Given the description of an element on the screen output the (x, y) to click on. 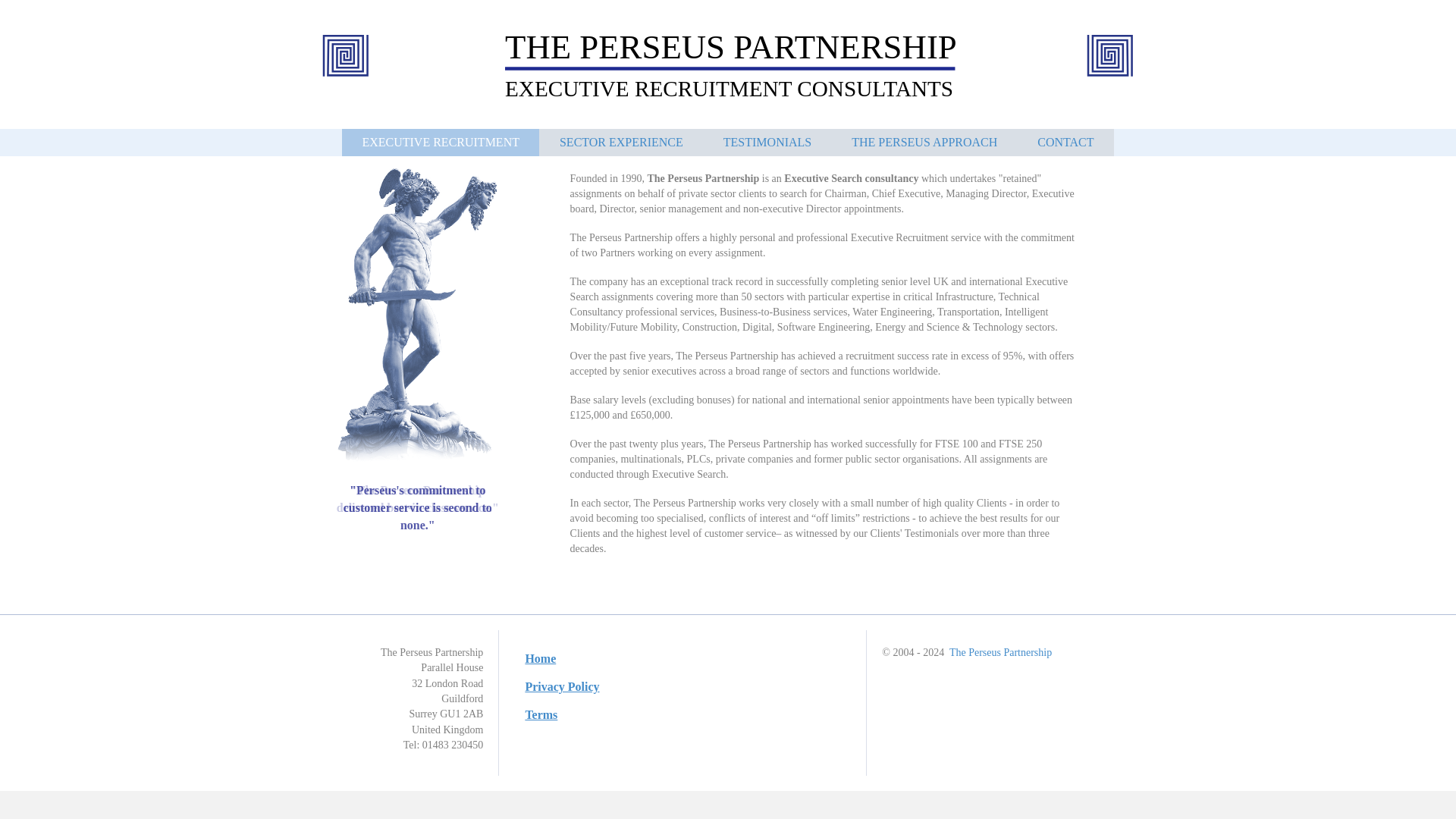
Terms (681, 714)
Privacy Policy (681, 687)
EXECUTIVE RECRUITMENT (440, 142)
The Perseus Partnership (1000, 652)
title1 (727, 67)
spiral3 (1110, 55)
spiral2 (345, 55)
CONTACT (1065, 142)
SECTOR EXPERIENCE (621, 142)
TESTIMONIALS (767, 142)
THE PERSEUS APPROACH (923, 142)
Home (681, 658)
